Given the description of an element on the screen output the (x, y) to click on. 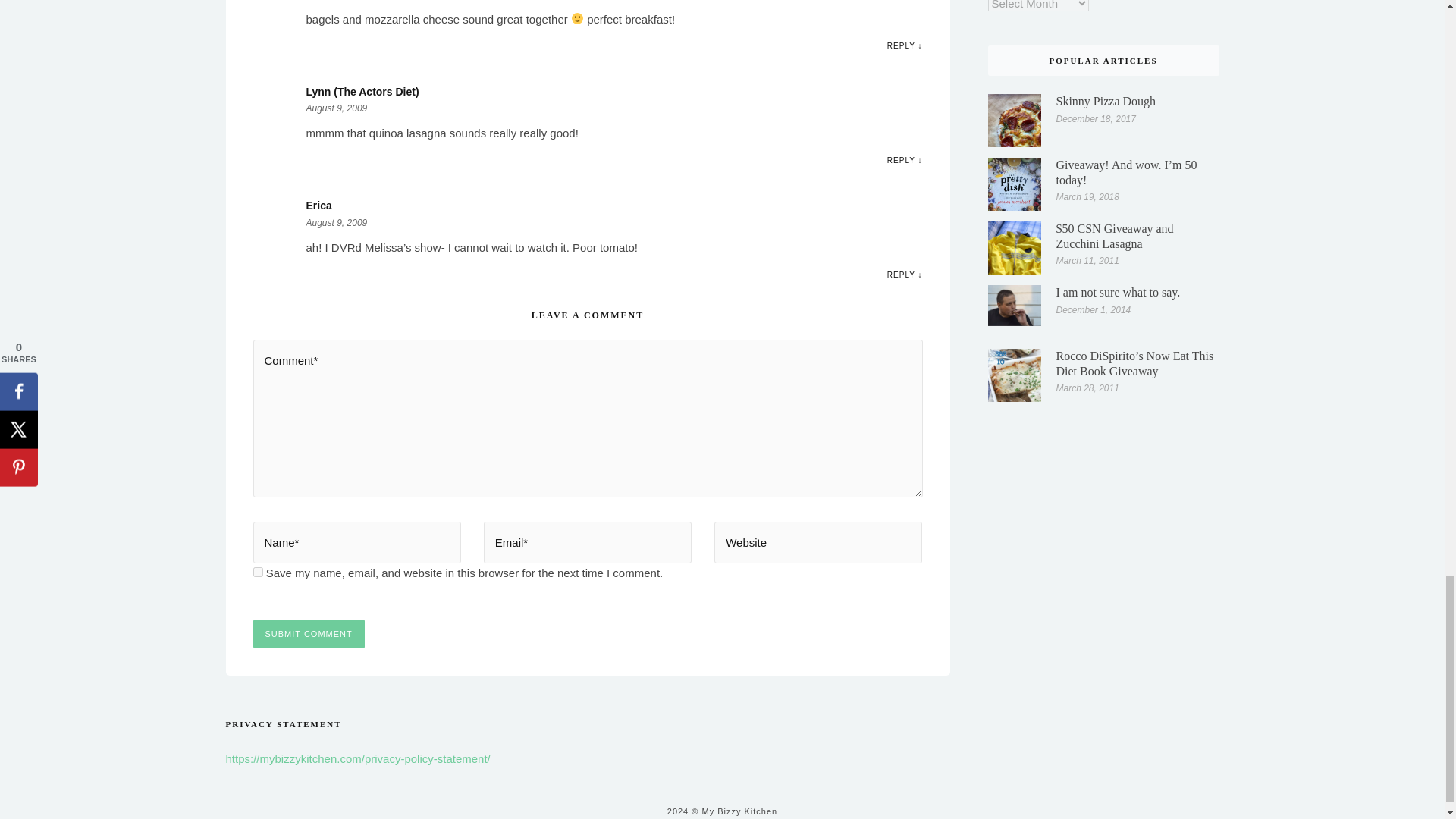
Submit Comment (309, 634)
I am not sure what to say. (1014, 305)
yes (258, 572)
